Given the description of an element on the screen output the (x, y) to click on. 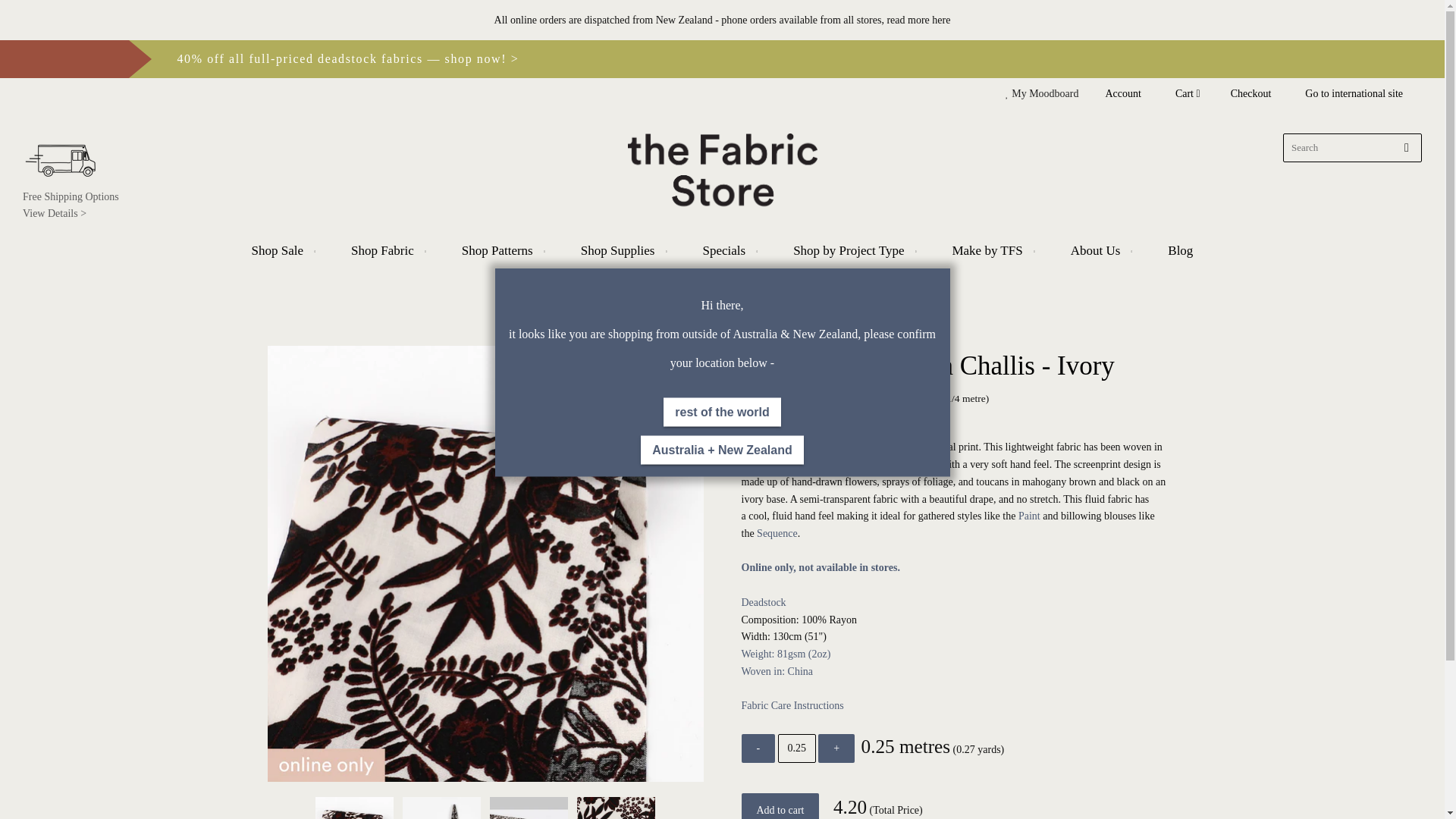
My Moodboard (1046, 94)
Cart (1186, 94)
Shop Fabric (386, 250)
0.25 (796, 747)
Checkout (1251, 93)
Go to international site (1353, 93)
Account (1122, 93)
Shop Sale (281, 250)
Add to cart (780, 806)
- (758, 747)
